Given the description of an element on the screen output the (x, y) to click on. 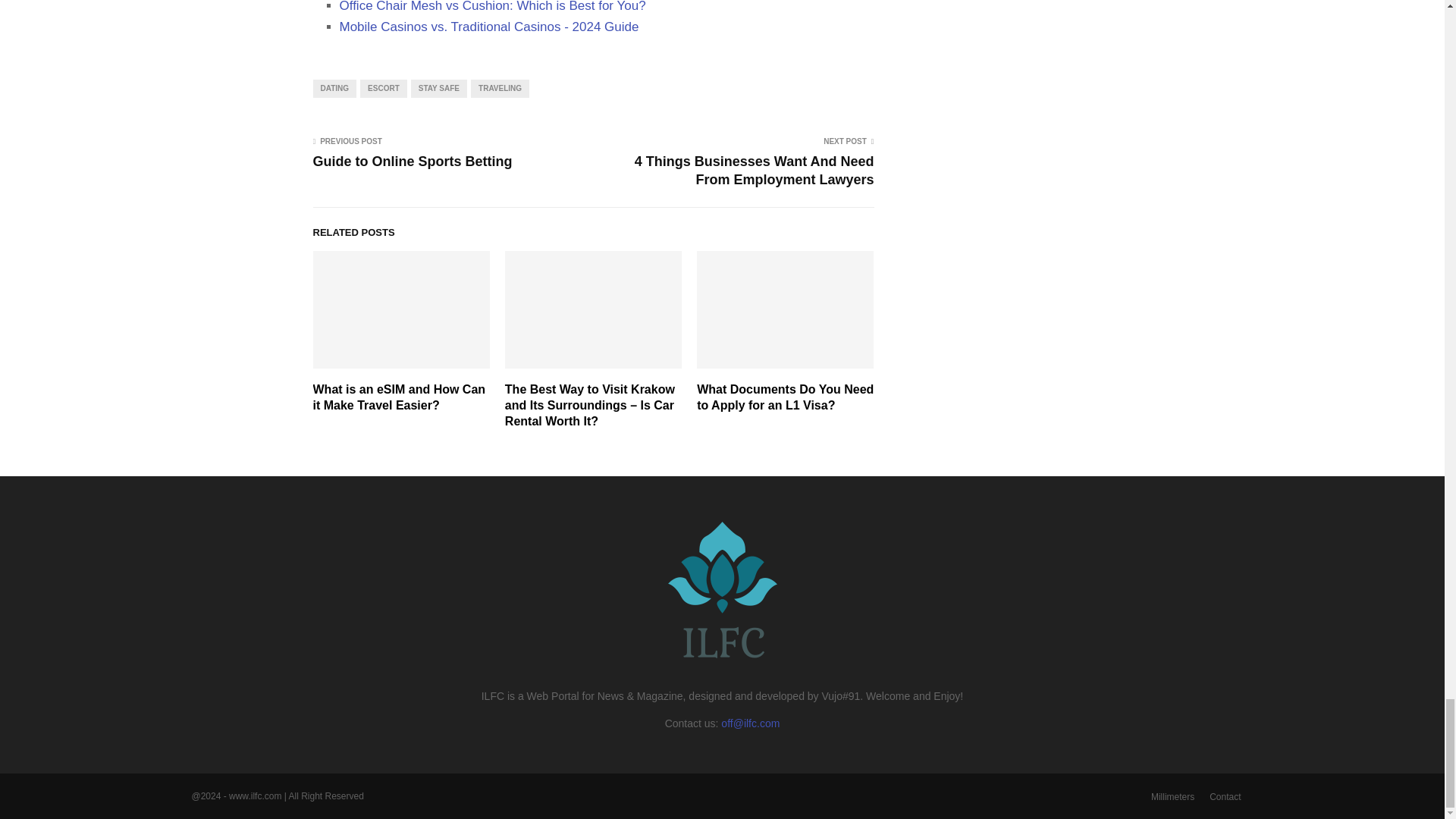
Office Chair Mesh vs Cushion: Which is Best for You? (492, 6)
Mobile Casinos vs. Traditional Casinos - 2024 Guide (489, 26)
ESCORT (383, 88)
STAY SAFE (438, 88)
Guide to Online Sports Betting (412, 160)
DATING (334, 88)
TRAVELING (499, 88)
